Given the description of an element on the screen output the (x, y) to click on. 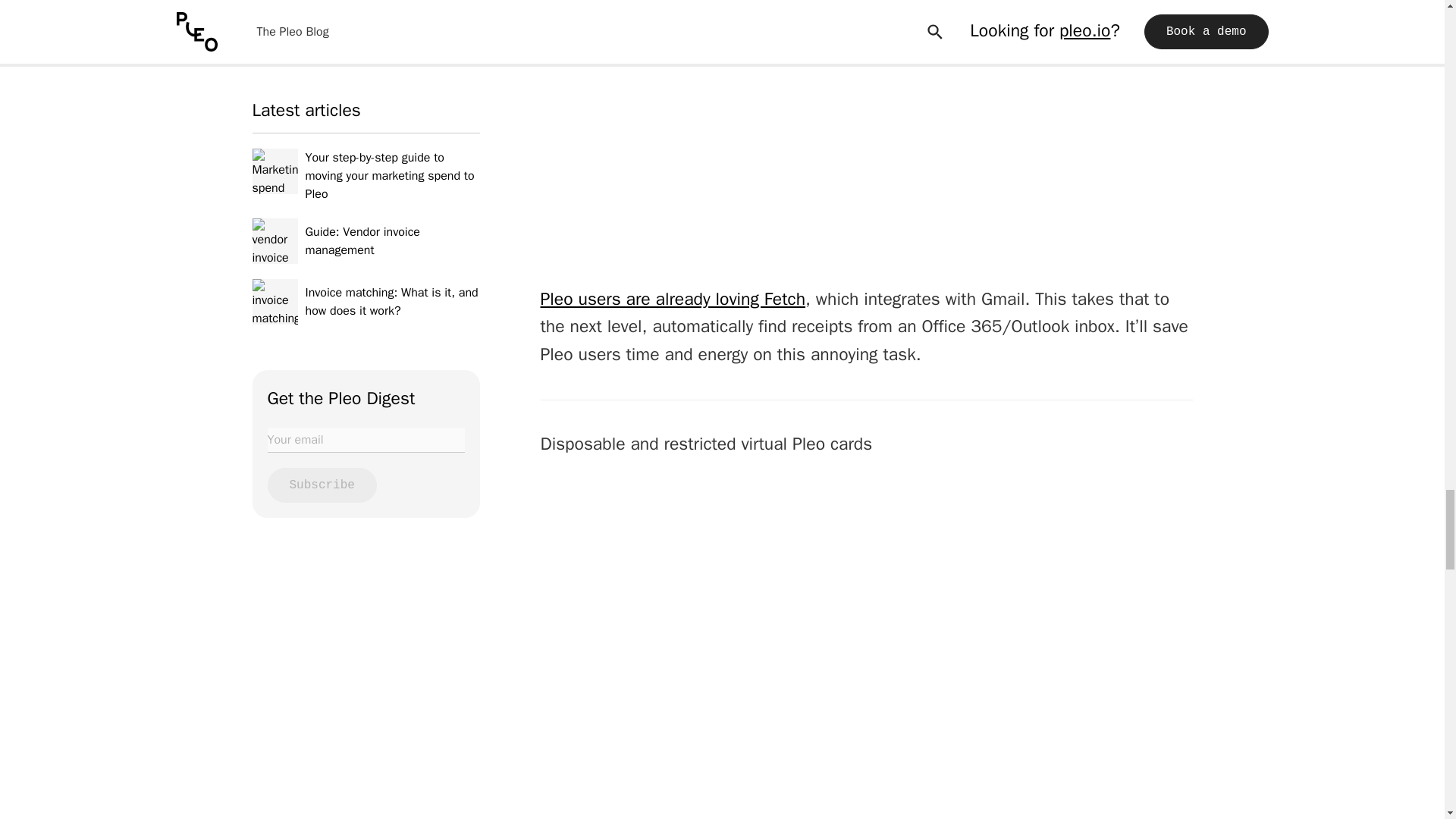
Pleo users are already loving Fetch (672, 299)
